Given the description of an element on the screen output the (x, y) to click on. 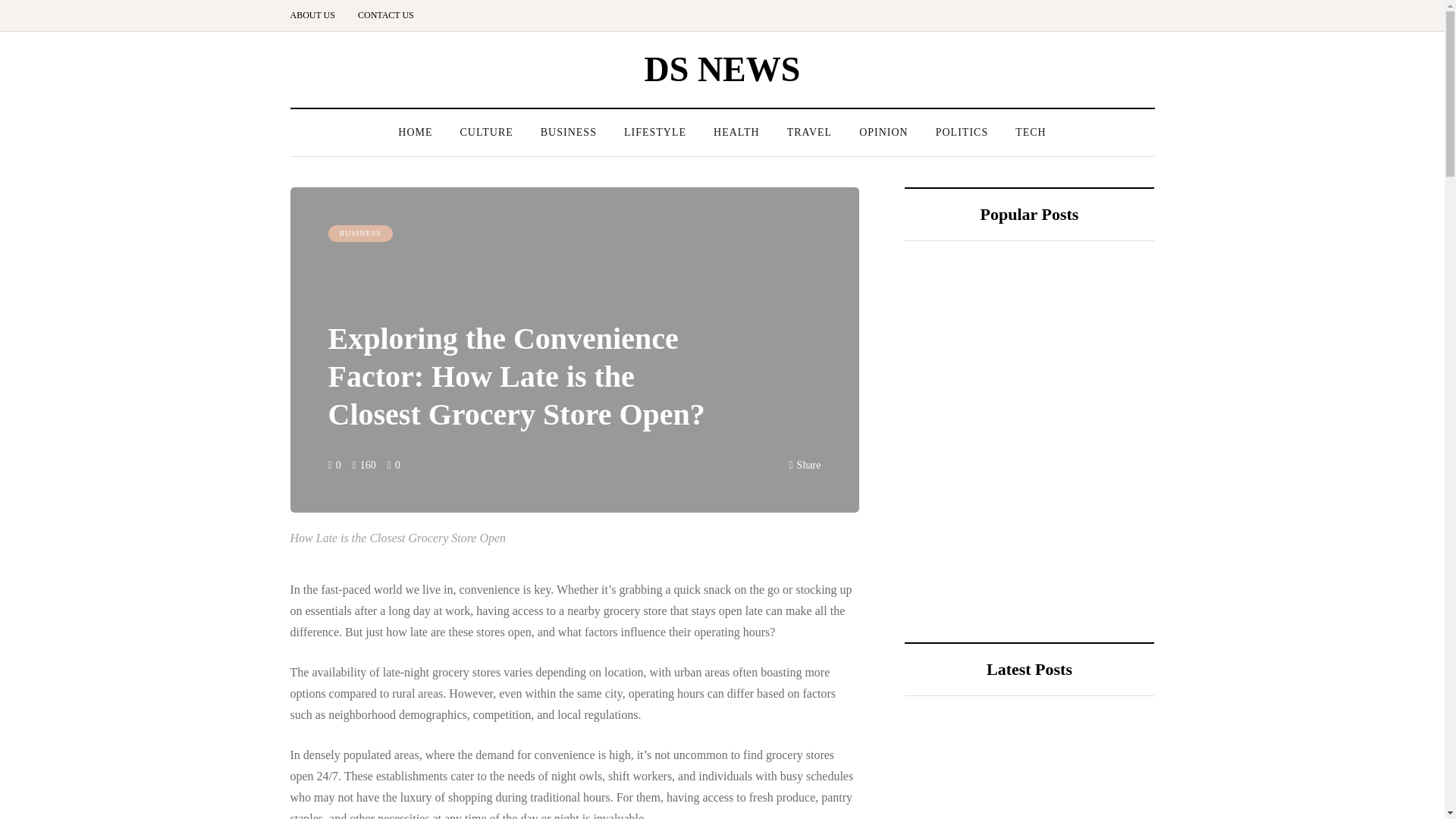
HOME (414, 132)
CONTACT US (385, 15)
CULTURE (485, 132)
TECH (1030, 132)
BUSINESS (568, 132)
ABOUT US (317, 15)
BUSINESS (359, 233)
TRAVEL (809, 132)
LIFESTYLE (655, 132)
HEALTH (736, 132)
